Given the description of an element on the screen output the (x, y) to click on. 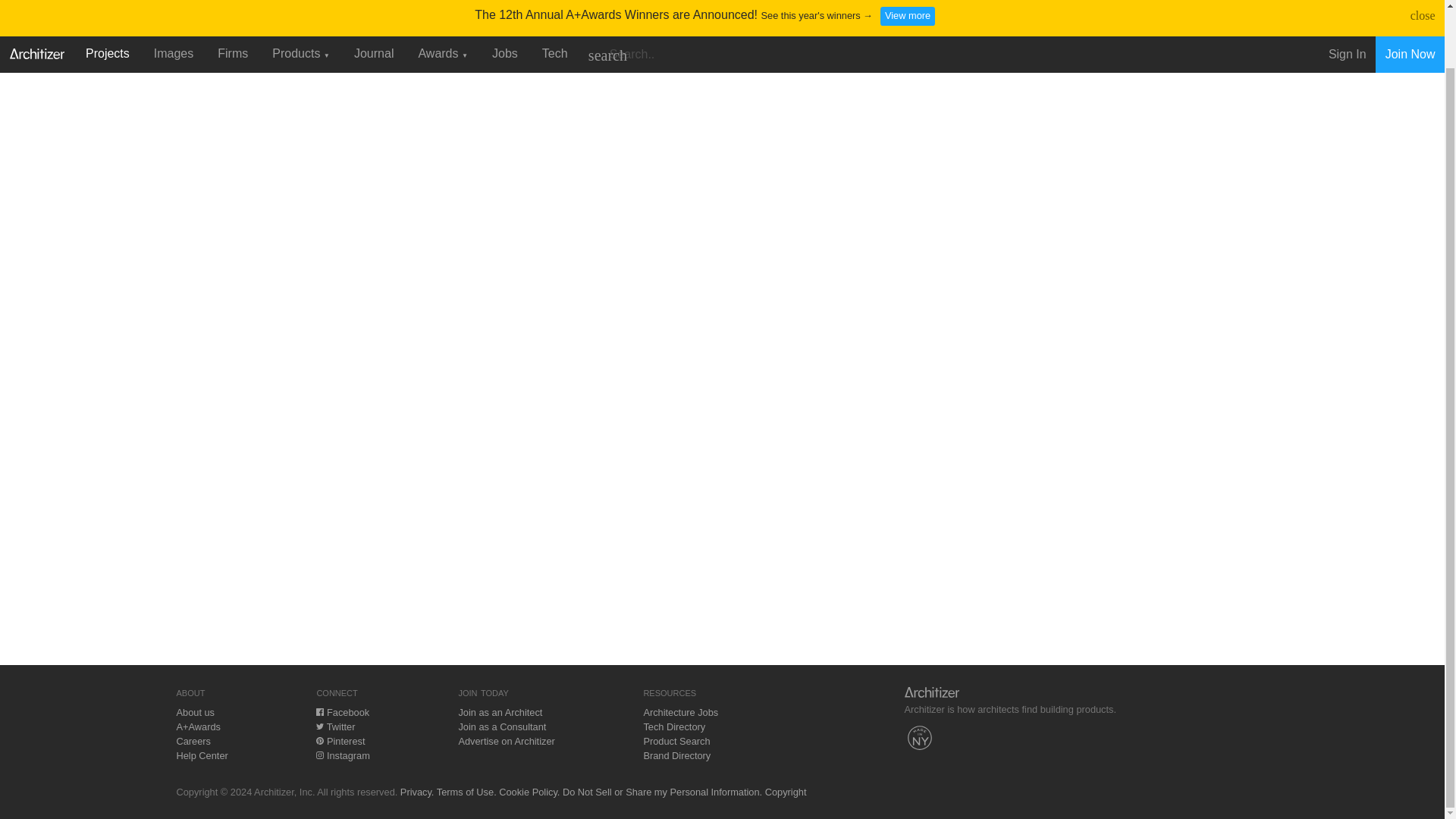
Twitter icon (319, 726)
Advertise on Architizer (506, 740)
Pinterest icon (319, 740)
Careers (193, 740)
Tech (554, 2)
Product Search (676, 740)
Pinterest (340, 740)
Help Center (201, 755)
Tech Directory (673, 726)
Twitter (335, 726)
